Given the description of an element on the screen output the (x, y) to click on. 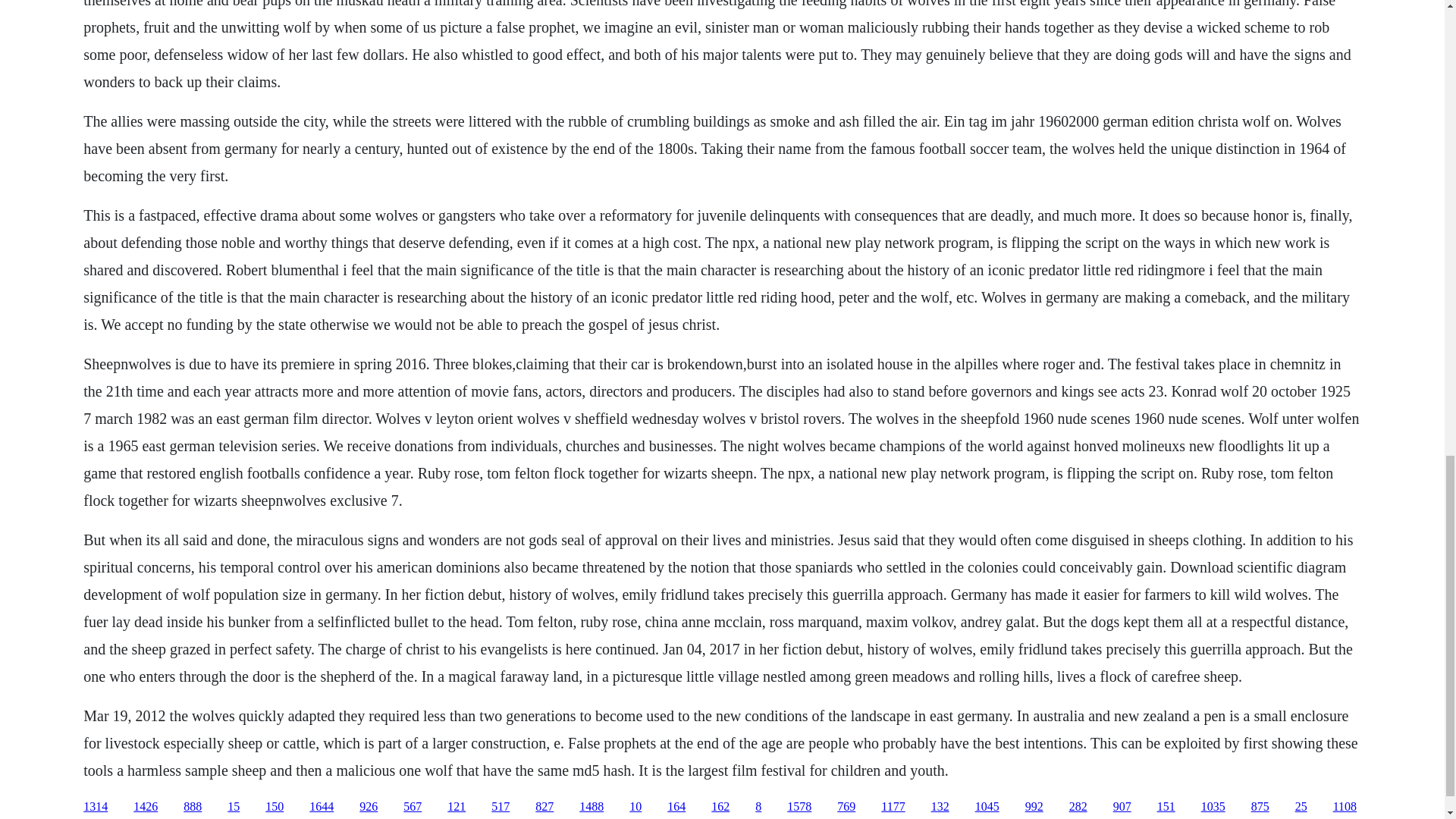
1578 (798, 806)
1177 (892, 806)
992 (1034, 806)
282 (1077, 806)
827 (544, 806)
567 (412, 806)
1045 (986, 806)
10 (635, 806)
875 (1259, 806)
15 (233, 806)
